Given the description of an element on the screen output the (x, y) to click on. 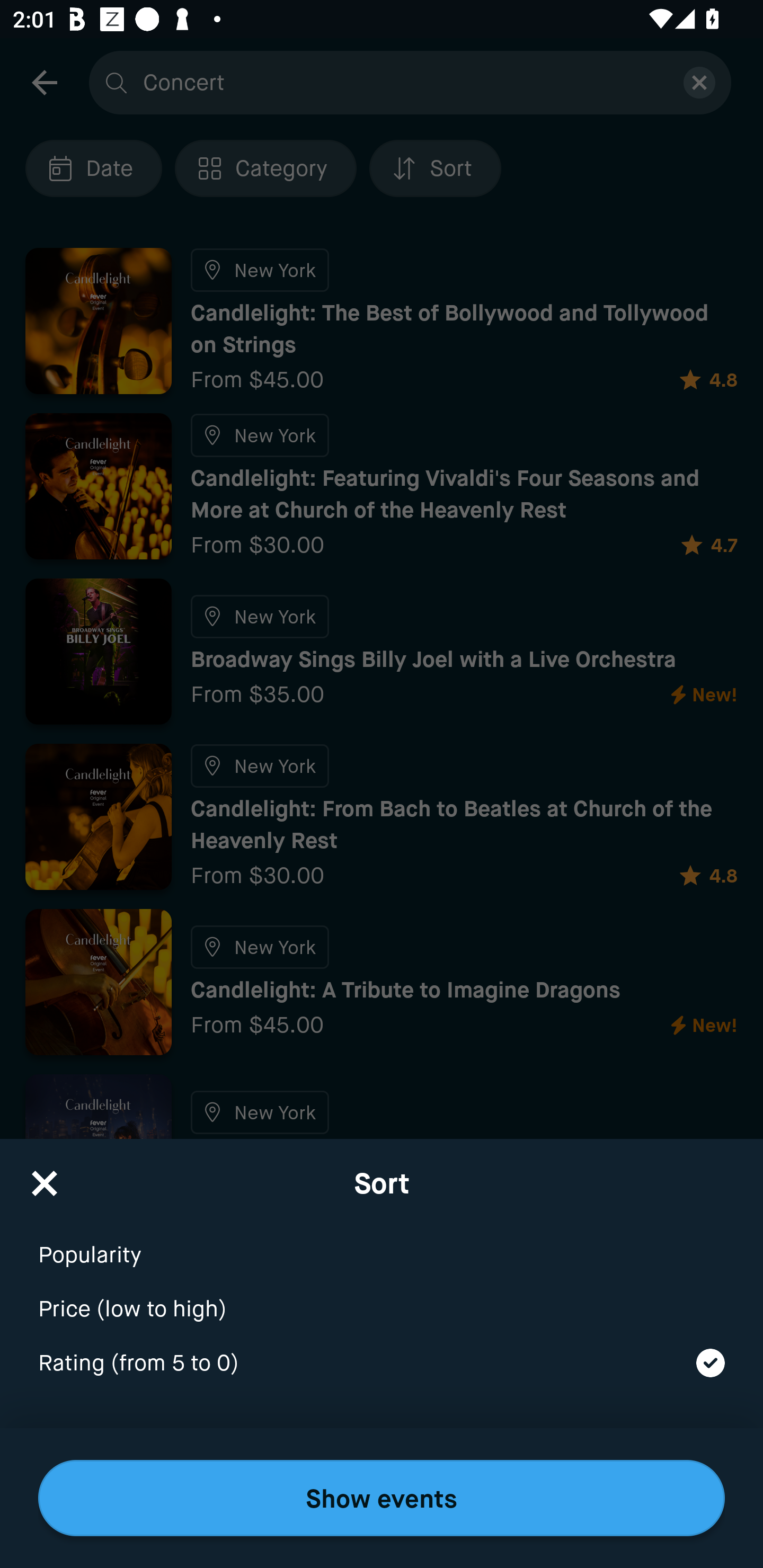
CloseButton (44, 1177)
Popularity (381, 1243)
Price (low to high) (381, 1297)
Rating (from 5 to 0) Selected Icon (381, 1362)
Show events (381, 1497)
